Given the description of an element on the screen output the (x, y) to click on. 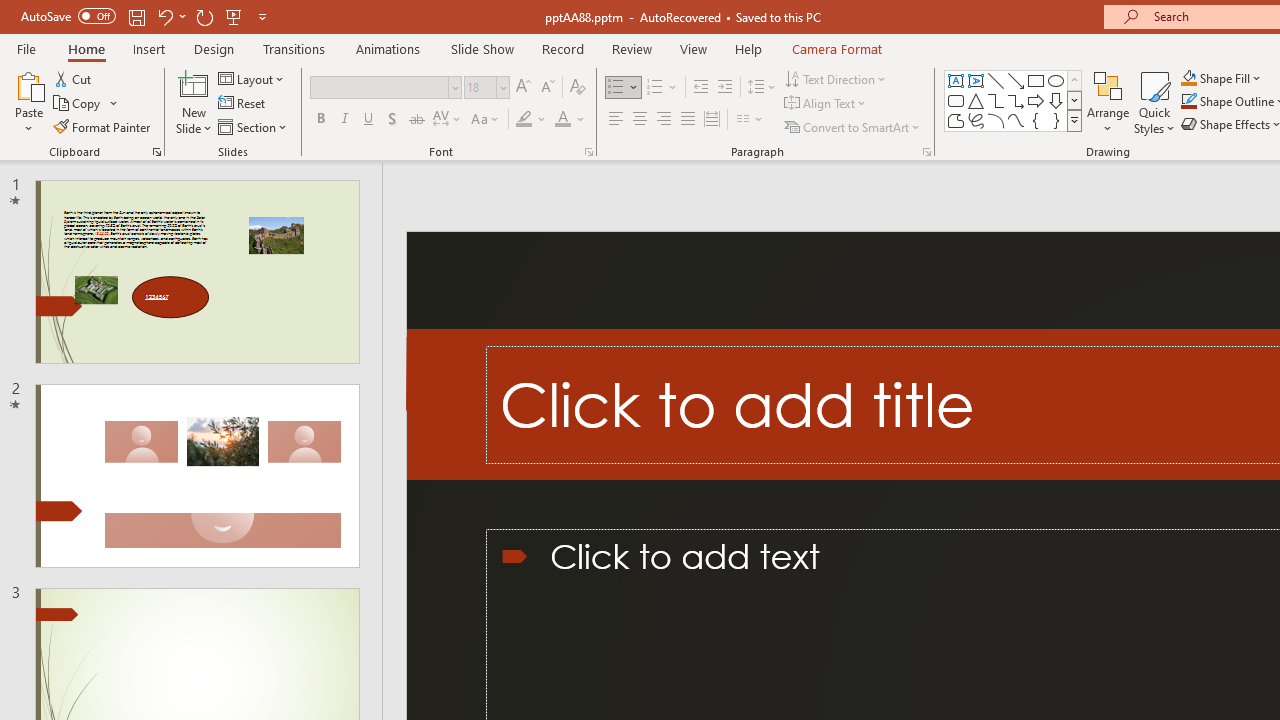
Text Highlight Color (531, 119)
Character Spacing (447, 119)
Freeform: Shape (955, 120)
Paste (28, 102)
Slide (196, 476)
Right Brace (1055, 120)
Decrease Indent (700, 87)
